Given the description of an element on the screen output the (x, y) to click on. 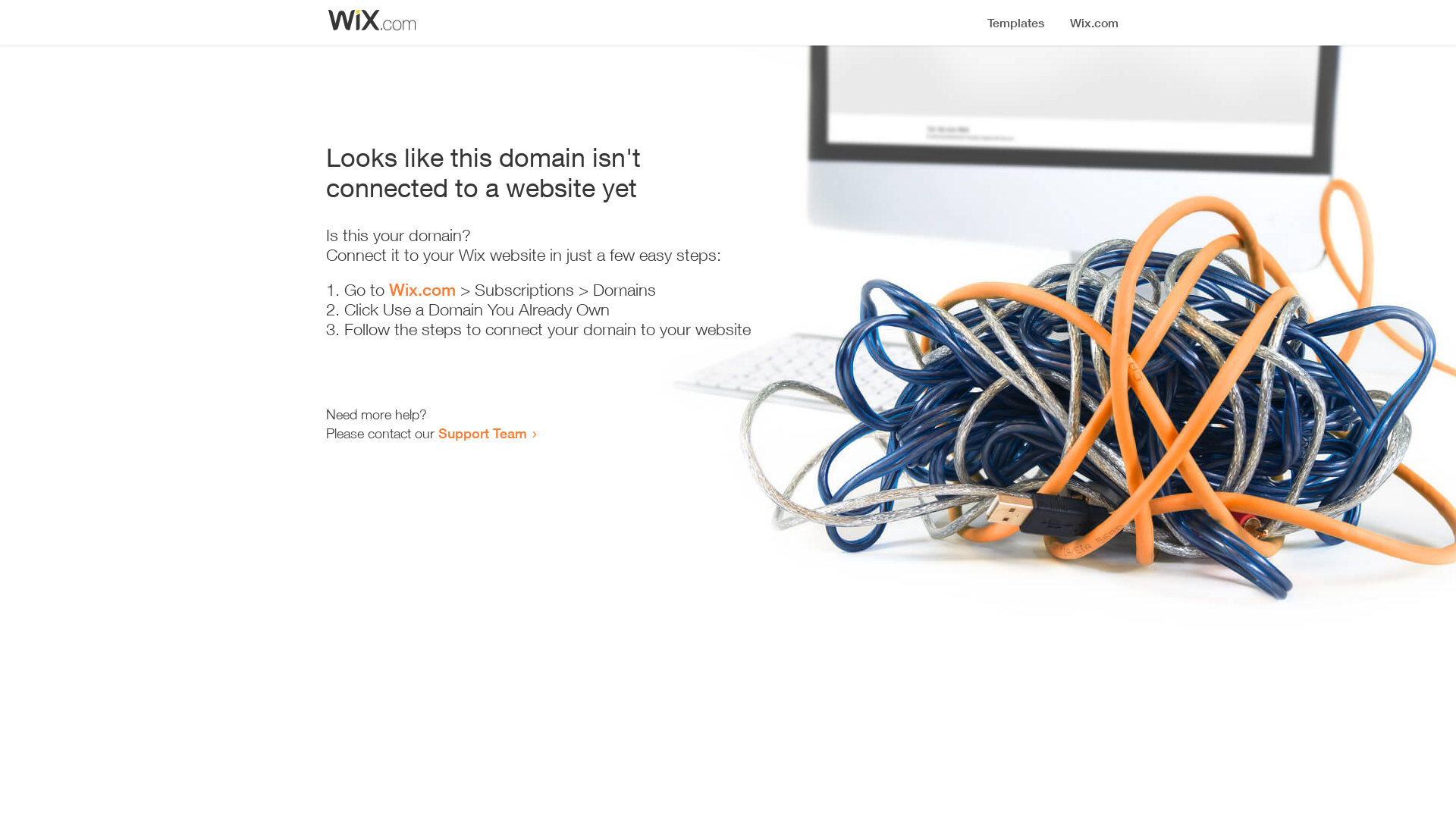
Support Team Element type: text (482, 432)
Wix.com Element type: text (422, 289)
